Given the description of an element on the screen output the (x, y) to click on. 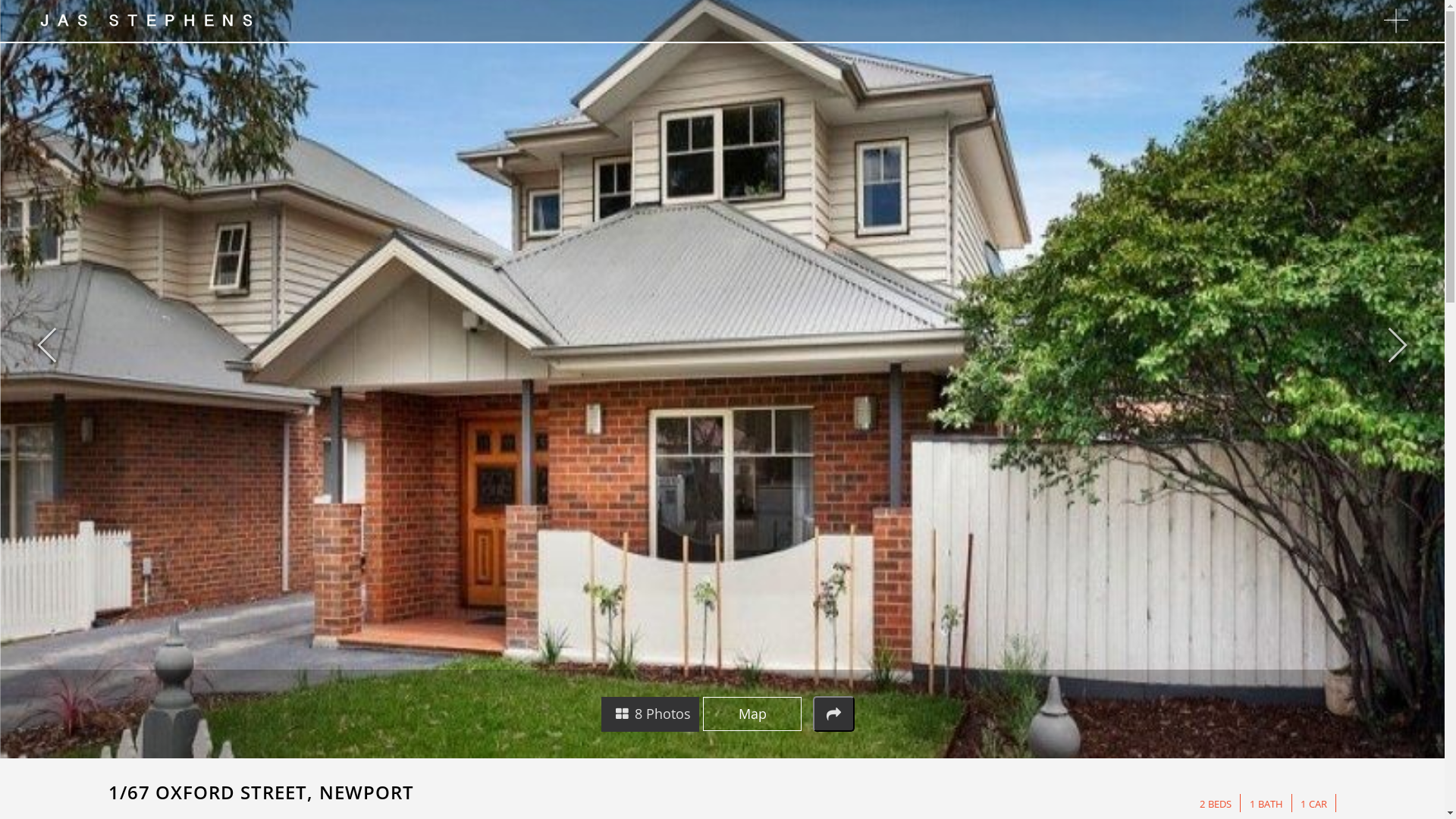
8 Photos Element type: text (650, 713)
Map Element type: text (751, 713)
Jas Stephens -  Element type: hover (146, 20)
